Given the description of an element on the screen output the (x, y) to click on. 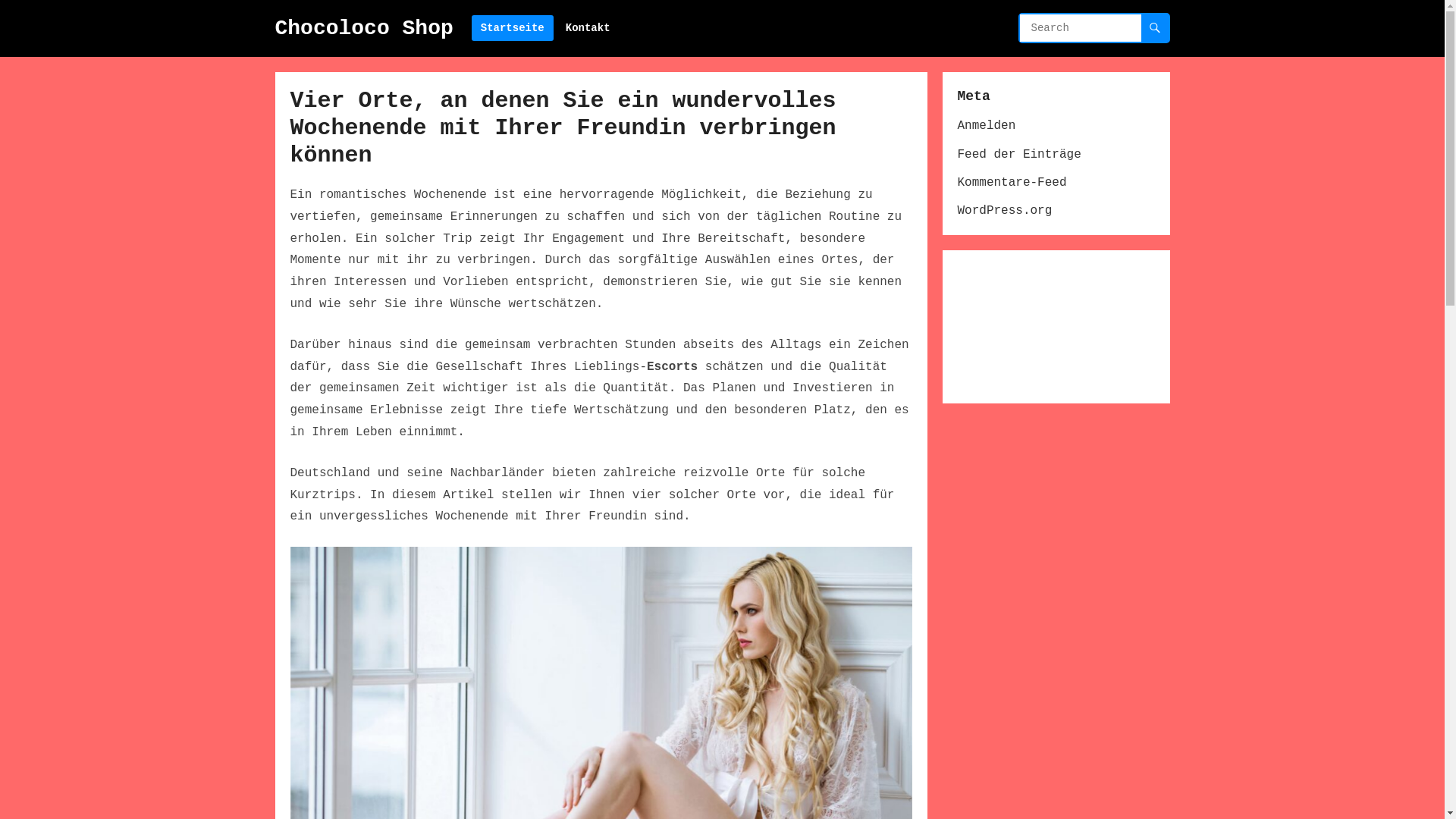
Kommentare-Feed Element type: text (1011, 182)
WordPress.org Element type: text (1004, 210)
Chocoloco Shop Element type: text (363, 28)
Startseite Element type: text (512, 28)
Anmelden Element type: text (986, 125)
Kontakt Element type: text (587, 28)
